Given the description of an element on the screen output the (x, y) to click on. 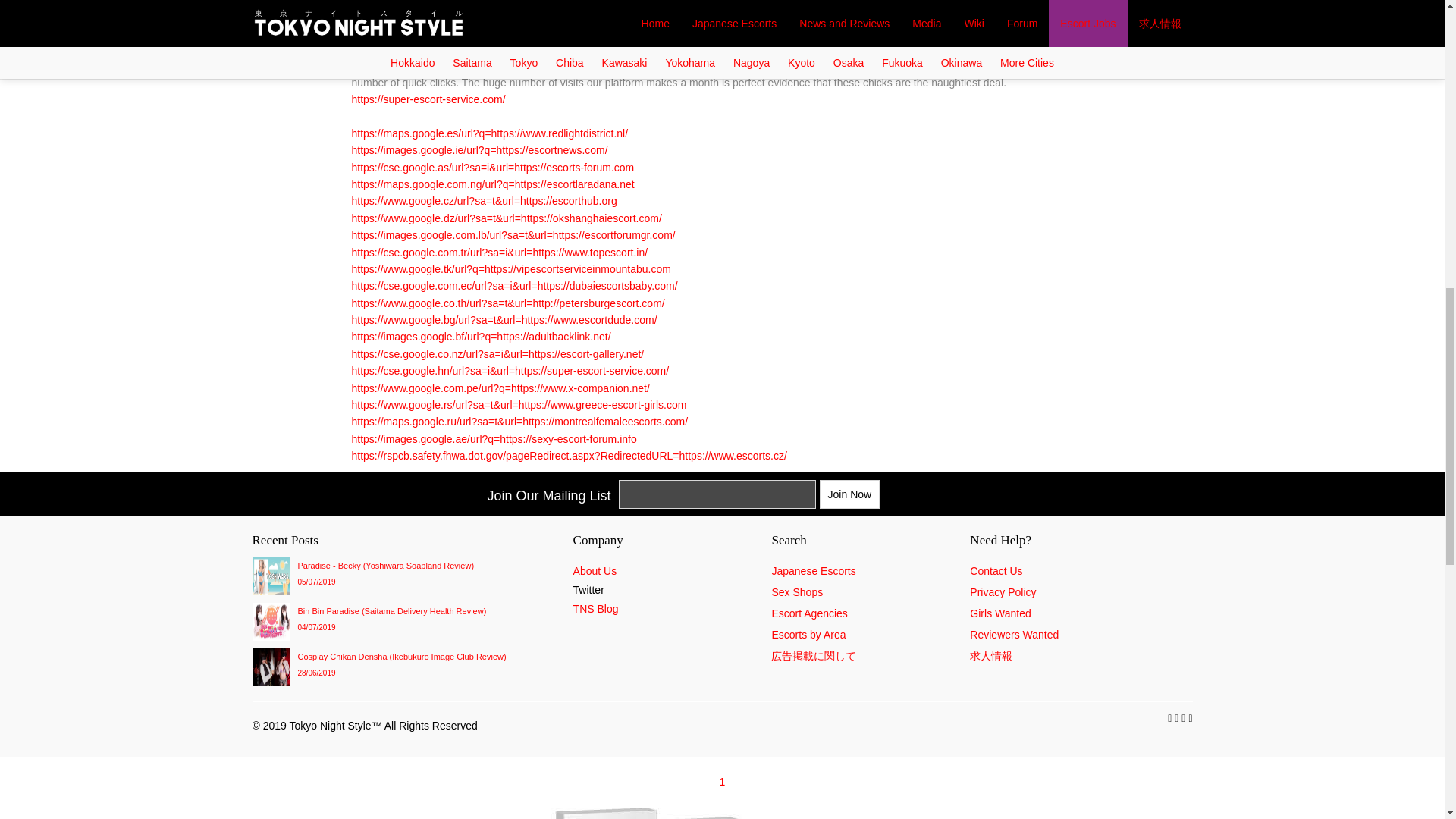
Escorts Thess (563, 14)
Join Now (849, 493)
